Given the description of an element on the screen output the (x, y) to click on. 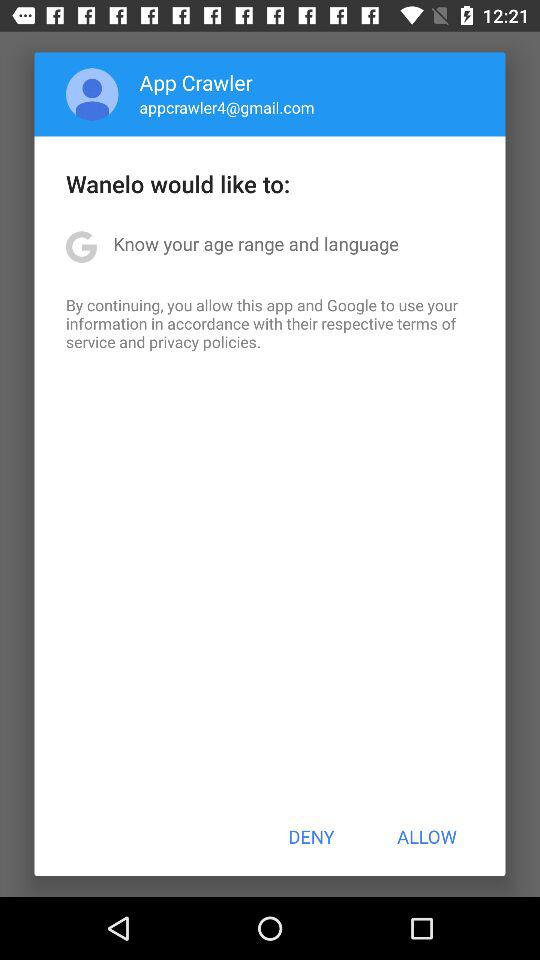
click icon at the bottom (311, 836)
